Given the description of an element on the screen output the (x, y) to click on. 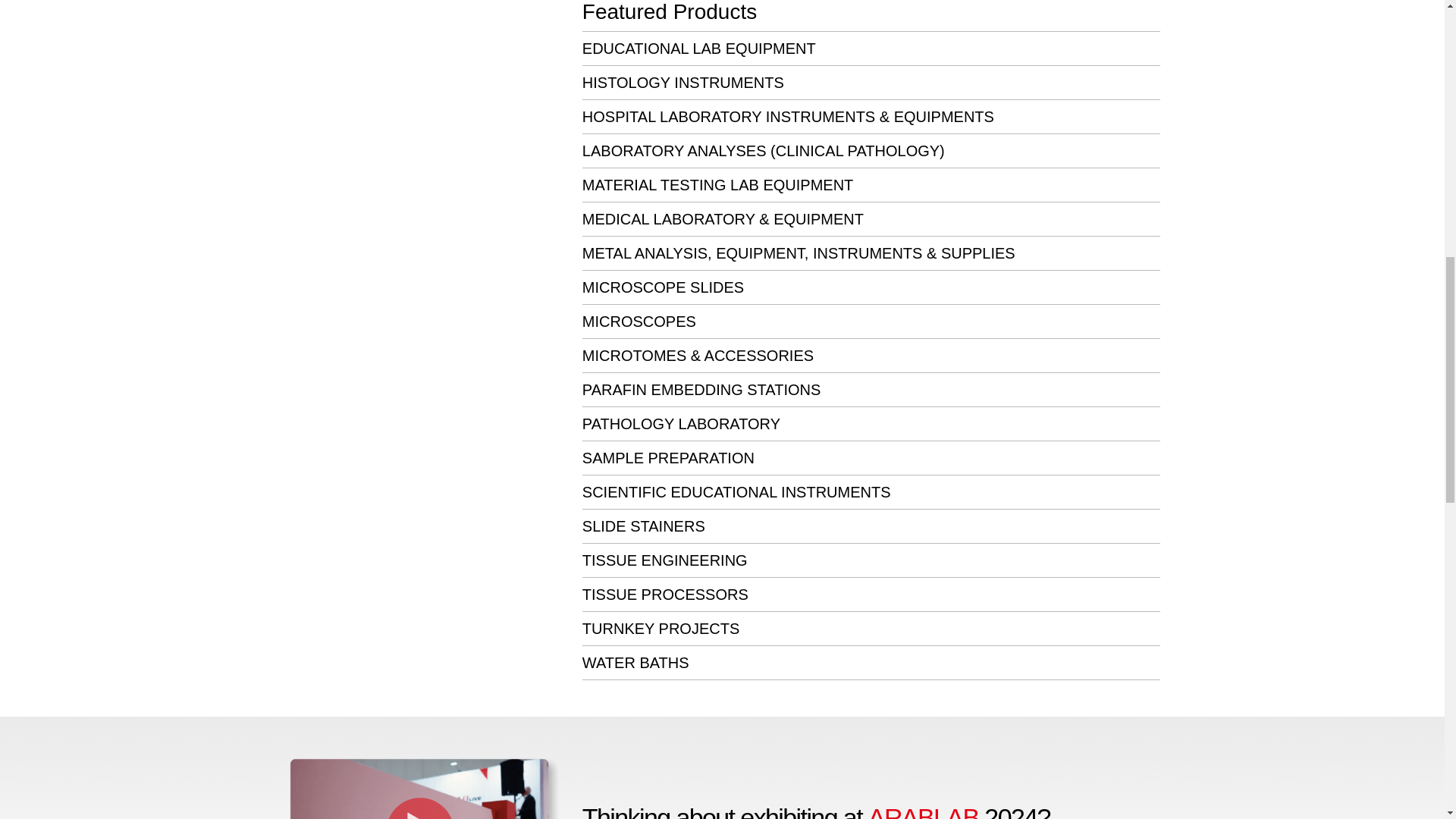
MICROSCOPE SLIDES (663, 287)
MATERIAL TESTING LAB EQUIPMENT (717, 184)
HISTOLOGY INSTRUMENTS (683, 82)
EDUCATIONAL LAB EQUIPMENT (698, 48)
MICROSCOPES (638, 321)
